Given the description of an element on the screen output the (x, y) to click on. 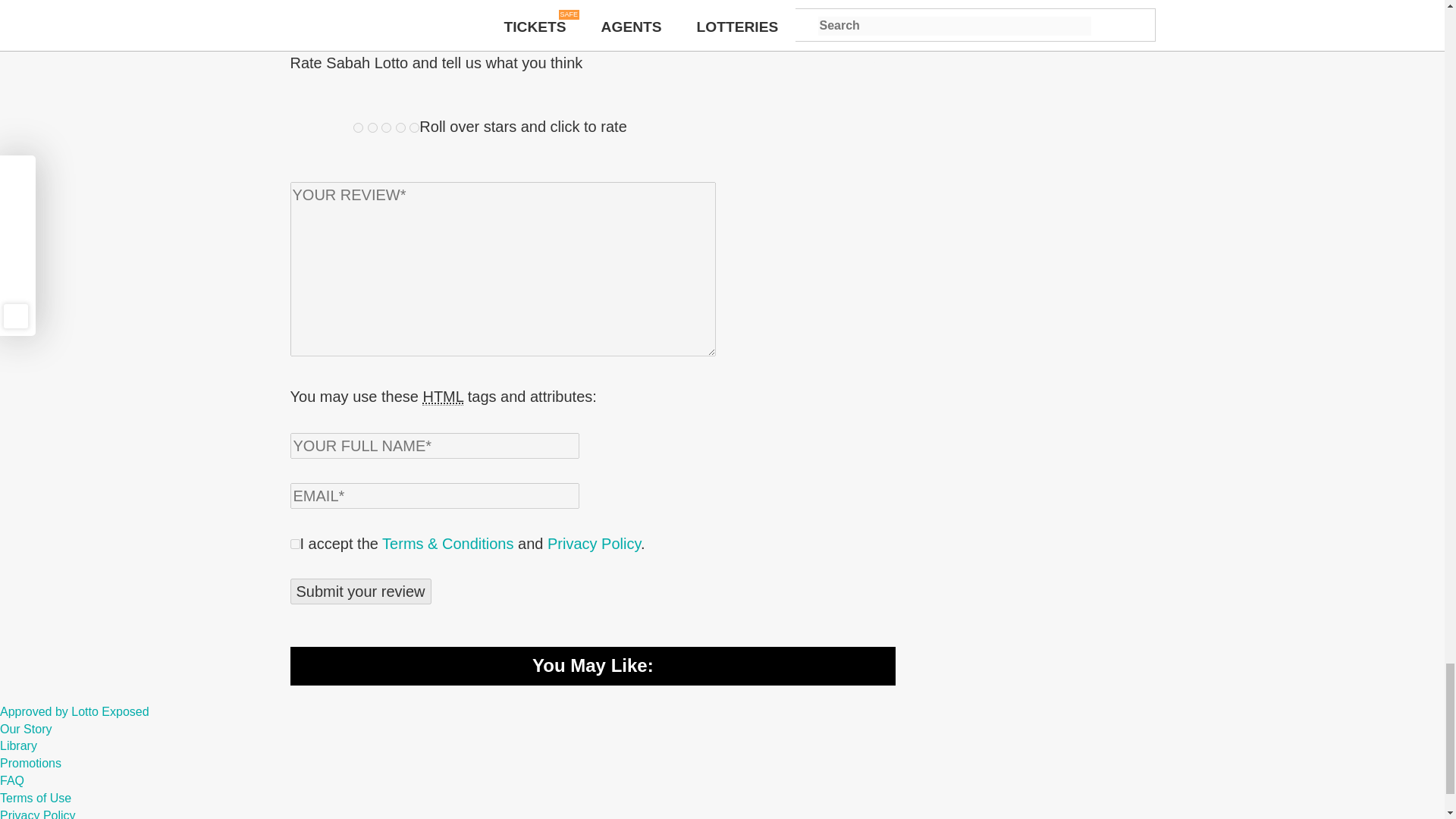
HyperText Markup Language (442, 396)
Approved by Lotto Exposed Badge (74, 711)
Approved by Lotto Exposed (74, 711)
2 (372, 127)
on (294, 543)
1 (357, 127)
4 (401, 127)
Submit your review (359, 591)
Privacy Policy (593, 543)
Submit your review (359, 591)
5 (414, 127)
3 (386, 127)
